Given the description of an element on the screen output the (x, y) to click on. 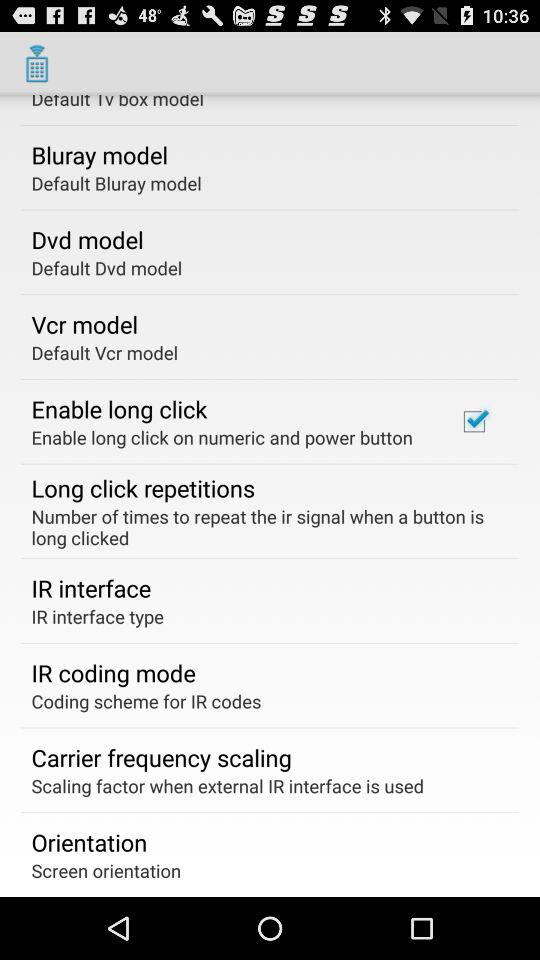
click the item to the right of the enable long click item (474, 421)
